Given the description of an element on the screen output the (x, y) to click on. 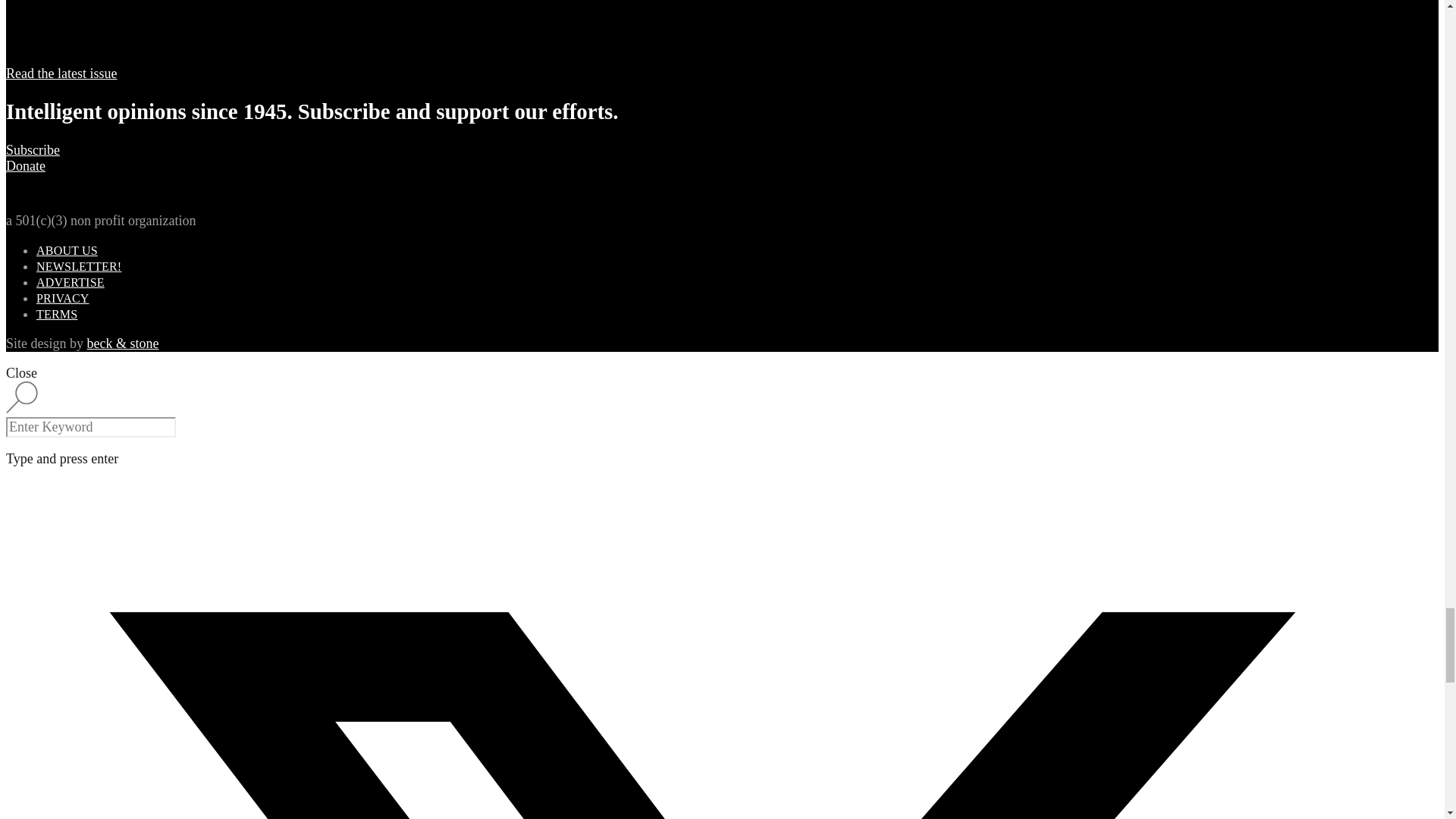
Advertise (70, 282)
search-alt (21, 397)
Privacy Policy (62, 297)
Terms of Use (56, 314)
